Given the description of an element on the screen output the (x, y) to click on. 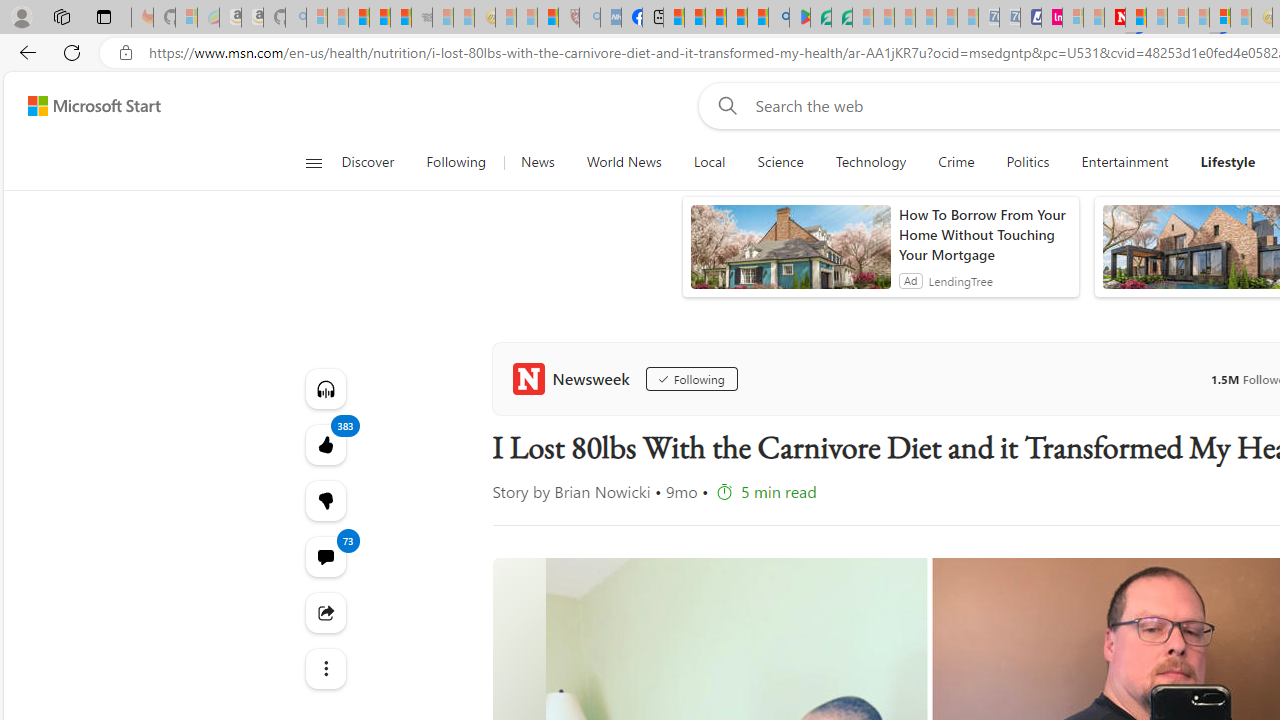
Lifestyle (1228, 162)
News (537, 162)
383 Like (324, 444)
google - Search (778, 17)
New Report Confirms 2023 Was Record Hot | Watch (400, 17)
Microsoft-Report a Concern to Bing - Sleeping (186, 17)
Politics (1027, 162)
Discover (367, 162)
Science (780, 162)
Microsoft Start (715, 17)
Class: at-item (324, 668)
Microsoft Start (94, 105)
